Given the description of an element on the screen output the (x, y) to click on. 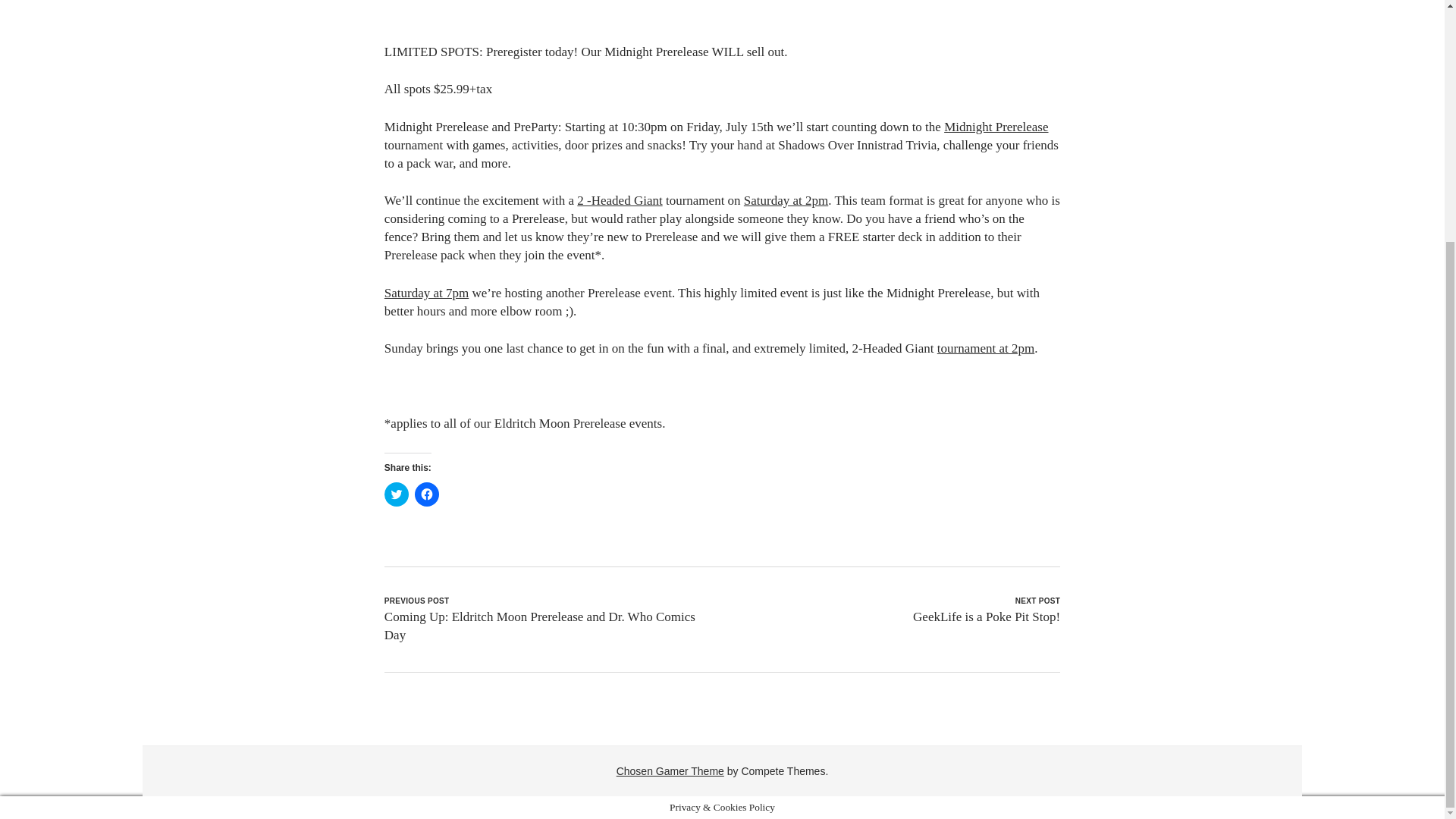
Chosen Gamer Theme (669, 770)
Click to share on Facebook (426, 494)
GeekLife is a Poke Pit Stop! (985, 616)
Saturday at 2pm (786, 200)
tournament at 2pm (985, 348)
Click to share on Twitter (396, 494)
Midnight Prerelease (995, 126)
2 -Headed Giant (619, 200)
Saturday at 7pm (426, 292)
Coming Up: Eldritch Moon Prerelease and Dr. Who Comics Day (539, 625)
